Given the description of an element on the screen output the (x, y) to click on. 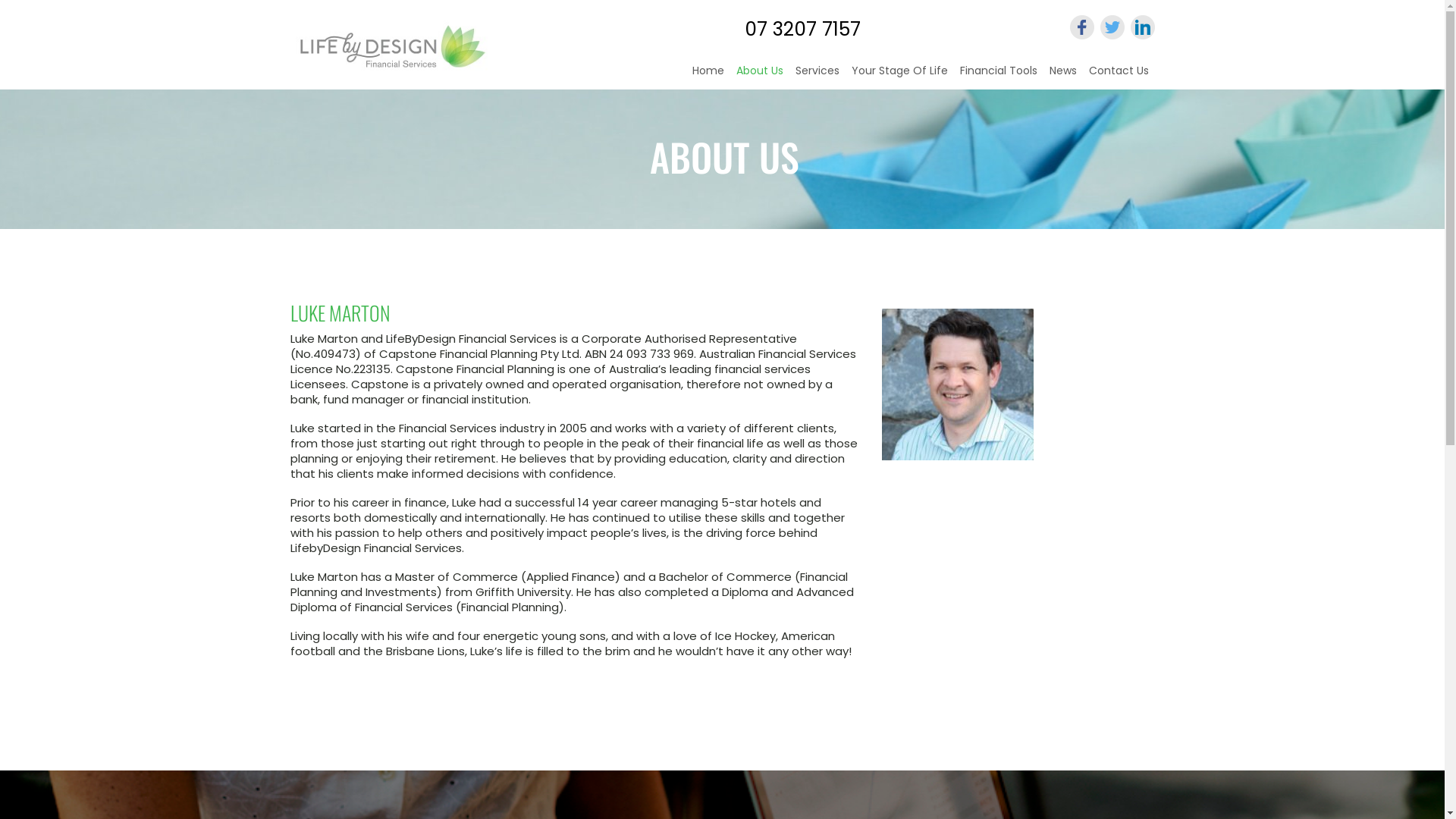
Visit us on LinkedIn Element type: hover (1141, 27)
Your Stage Of Life Element type: text (898, 67)
Visit us on Facebook Element type: hover (1081, 27)
About Us Element type: text (758, 70)
Services Element type: text (816, 67)
News Element type: text (1062, 67)
Financial Tools Element type: text (998, 67)
LBDFS_About Element type: hover (956, 384)
Contact Us Element type: text (1118, 67)
Home Element type: text (707, 67)
Visit us on Twitter Element type: hover (1111, 27)
